Given the description of an element on the screen output the (x, y) to click on. 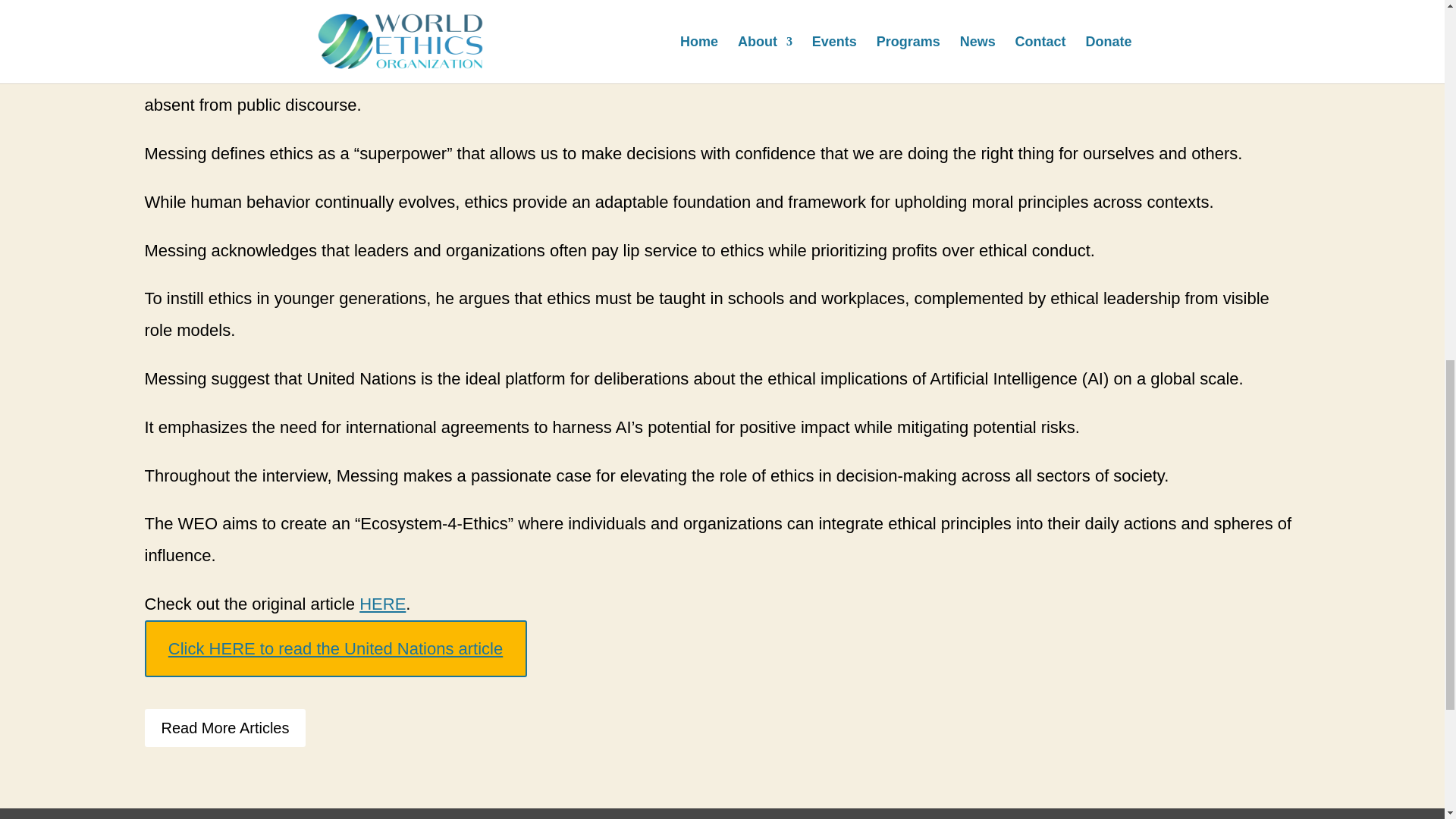
HERE (382, 603)
Read More Articles (224, 727)
Click HERE to read the United Nations article (334, 648)
